Given the description of an element on the screen output the (x, y) to click on. 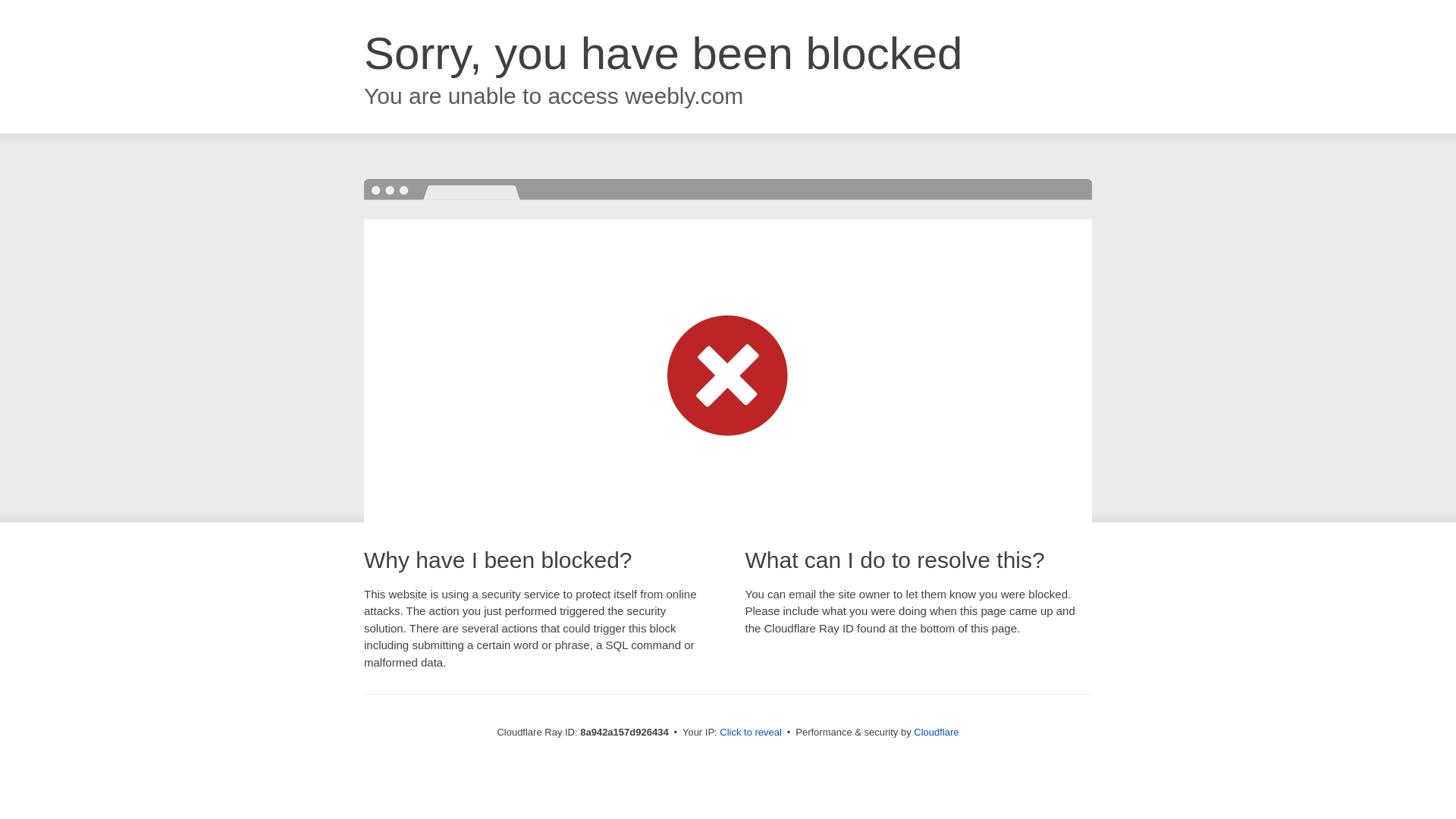
Click to reveal (750, 732)
Cloudflare (936, 731)
